Given the description of an element on the screen output the (x, y) to click on. 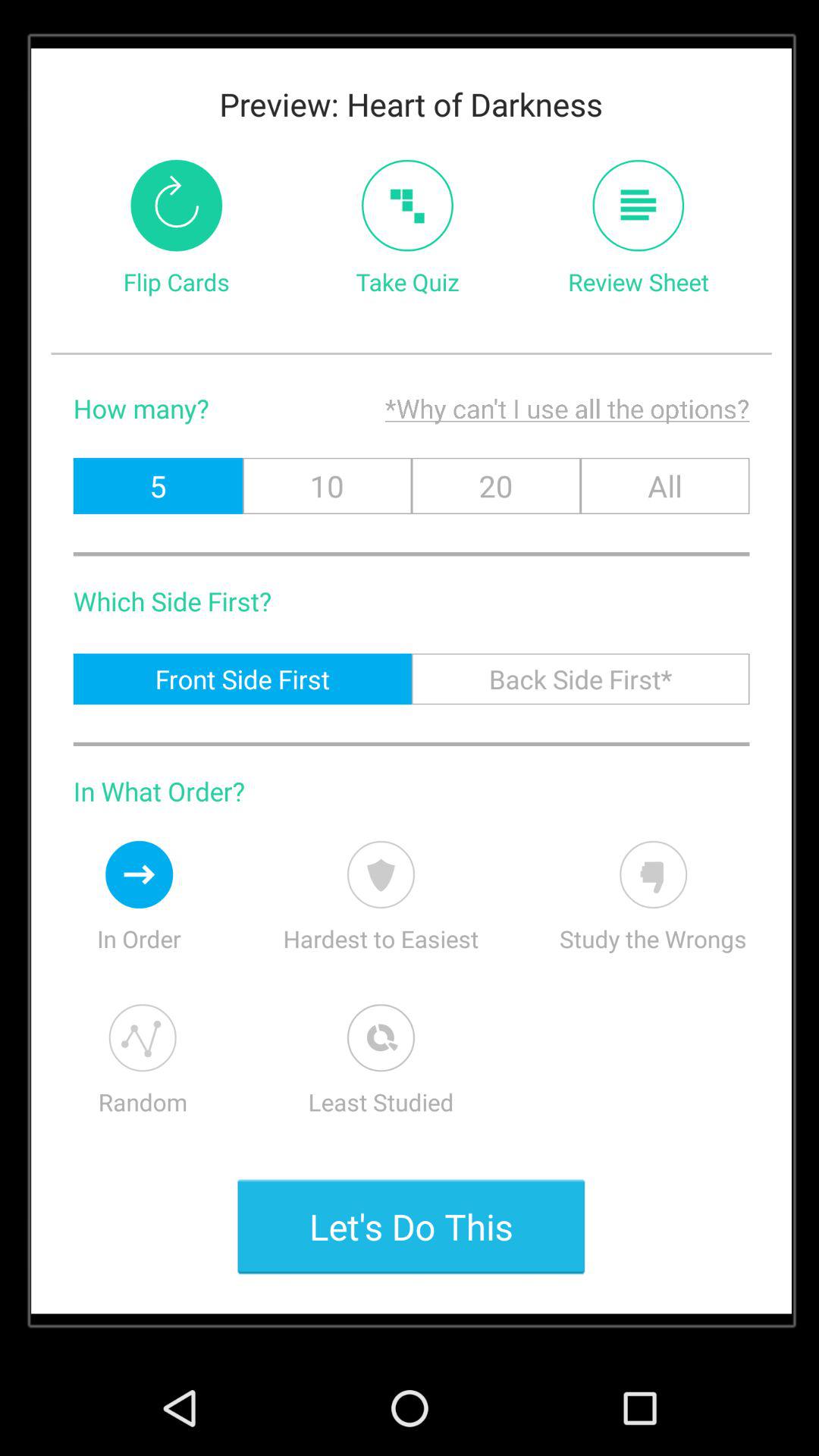
wrong answers first option (653, 874)
